Given the description of an element on the screen output the (x, y) to click on. 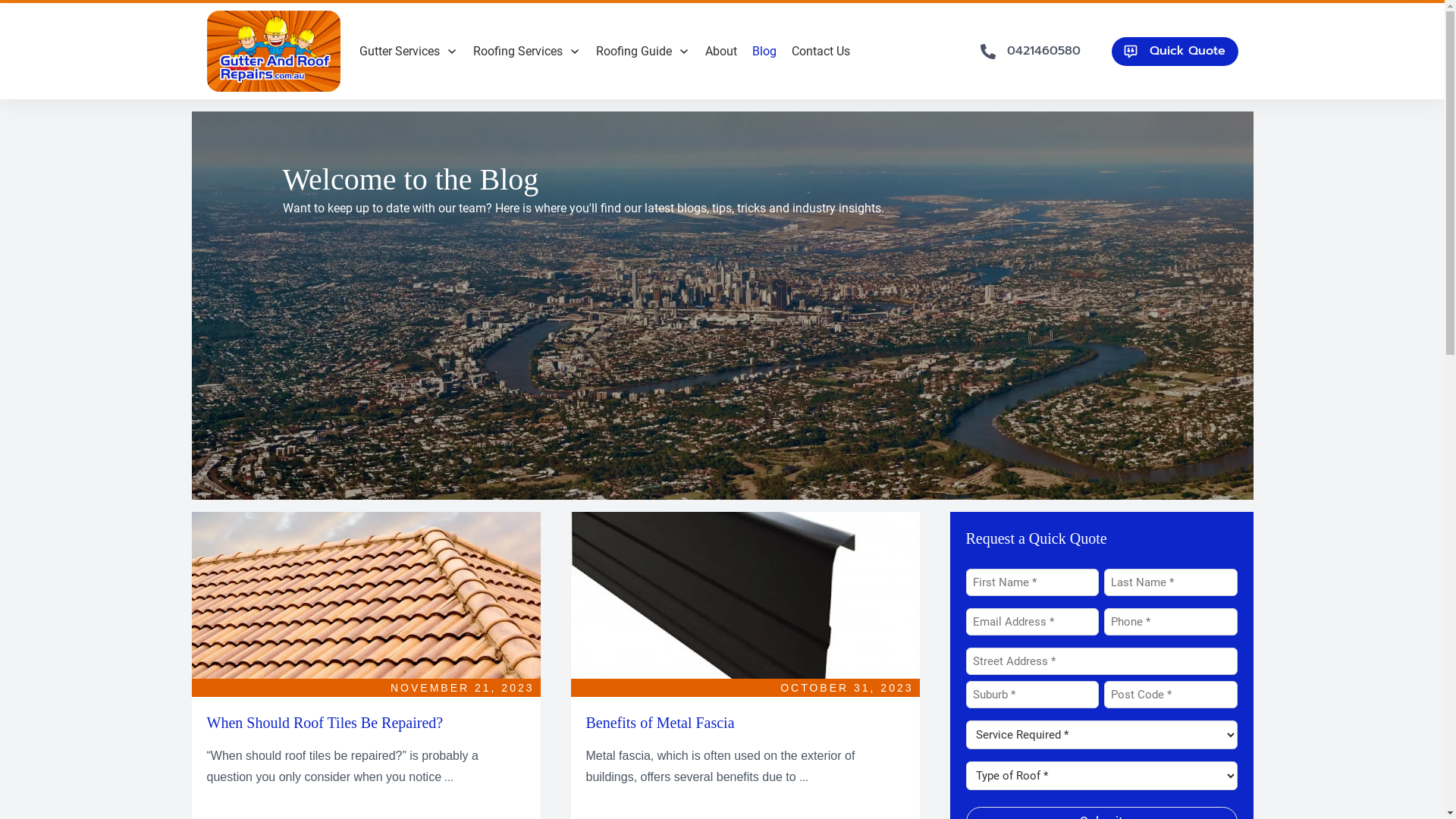
NOVEMBER 21, 2023 Element type: text (462, 687)
Benefits of Metal Fascia Element type: text (659, 722)
Roofing Guide Element type: text (643, 51)
0421460580  Element type: text (1033, 51)
Blog Element type: text (764, 51)
Roofing Services Element type: text (526, 51)
OCTOBER 31, 2023 Element type: text (846, 687)
... Element type: text (448, 776)
About Element type: text (721, 51)
... Element type: text (803, 776)
Contact Us Element type: text (820, 51)
When Should Roof Tiles Be Repaired? Element type: text (324, 722)
Quick Quote Element type: text (1174, 51)
Gutter Services Element type: text (408, 51)
